Given the description of an element on the screen output the (x, y) to click on. 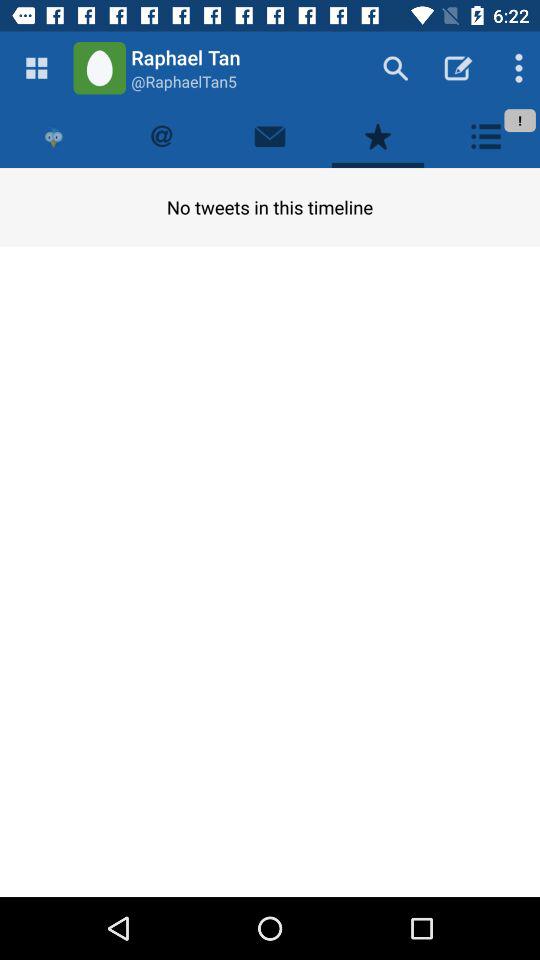
turn on icon above no tweets in (54, 136)
